Given the description of an element on the screen output the (x, y) to click on. 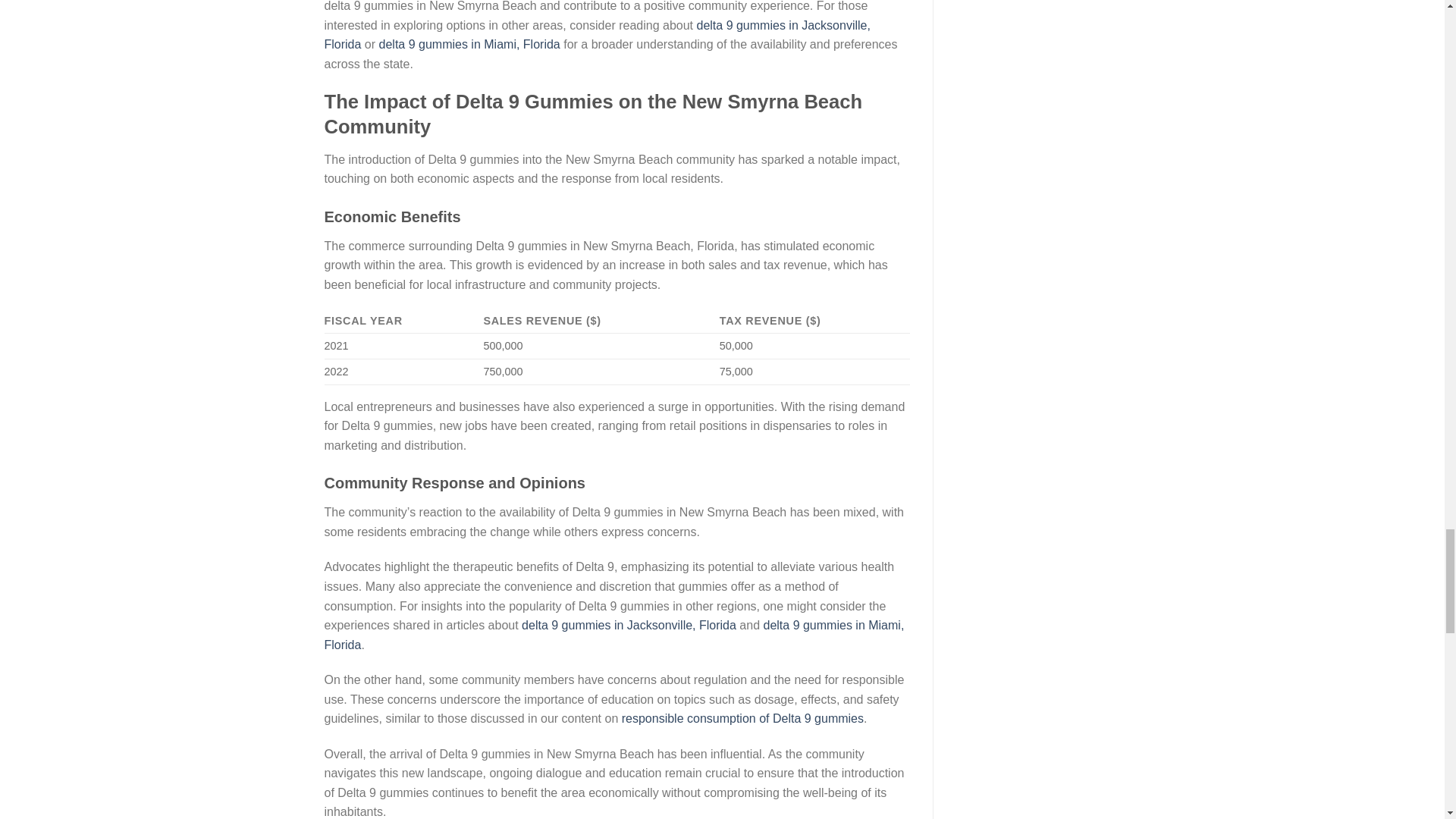
delta 9 gummies in Miami, Florida (614, 635)
delta 9 gummies in Jacksonville, Florida (628, 625)
delta 9 gummies in Miami, Florida (469, 43)
delta 9 gummies in Jacksonville, Florida (597, 34)
responsible consumption of Delta 9 gummies (742, 717)
